Given the description of an element on the screen output the (x, y) to click on. 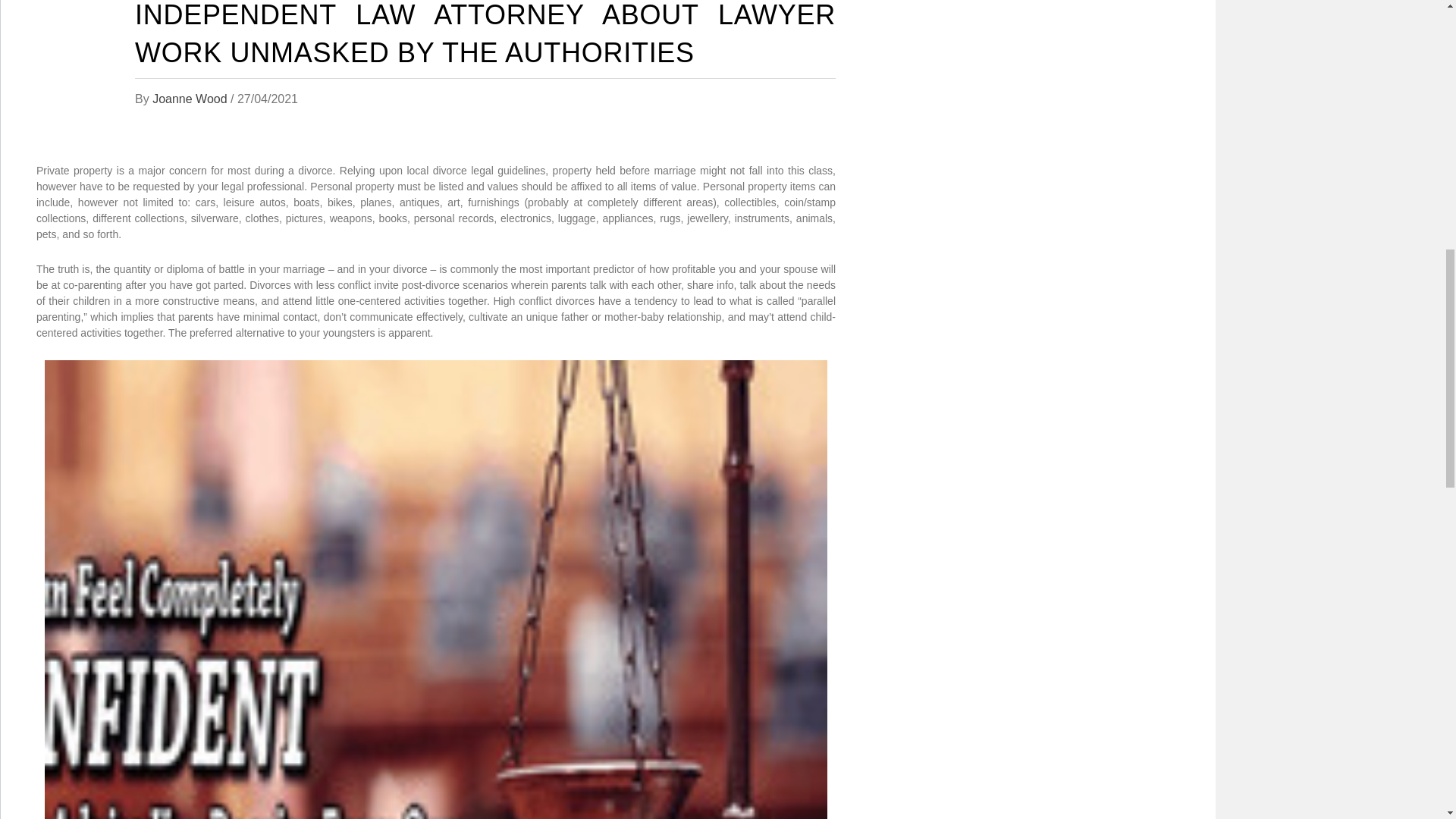
Joanne Wood (191, 98)
